Given the description of an element on the screen output the (x, y) to click on. 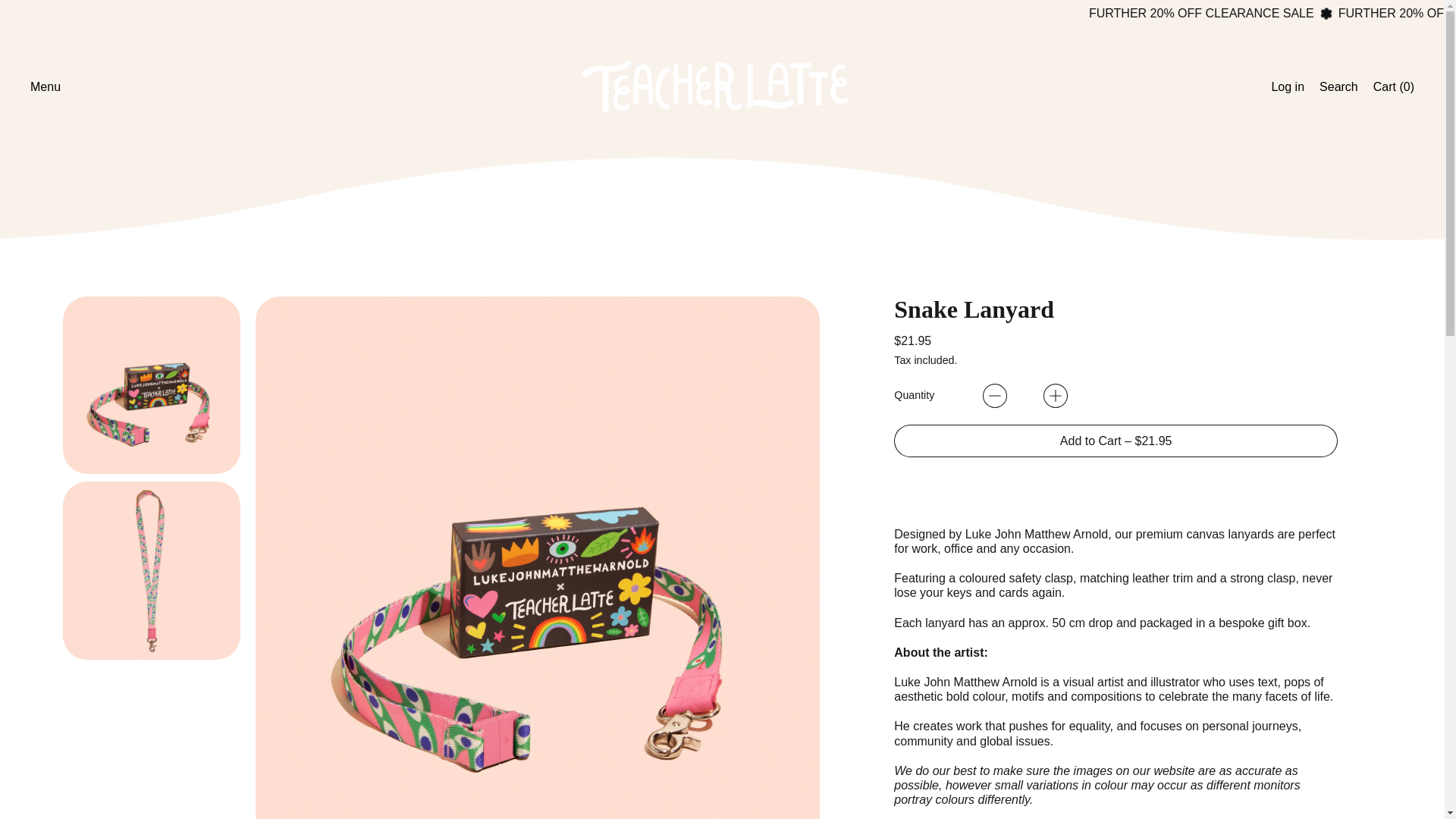
Log in (1287, 86)
Menu (1338, 86)
